Given the description of an element on the screen output the (x, y) to click on. 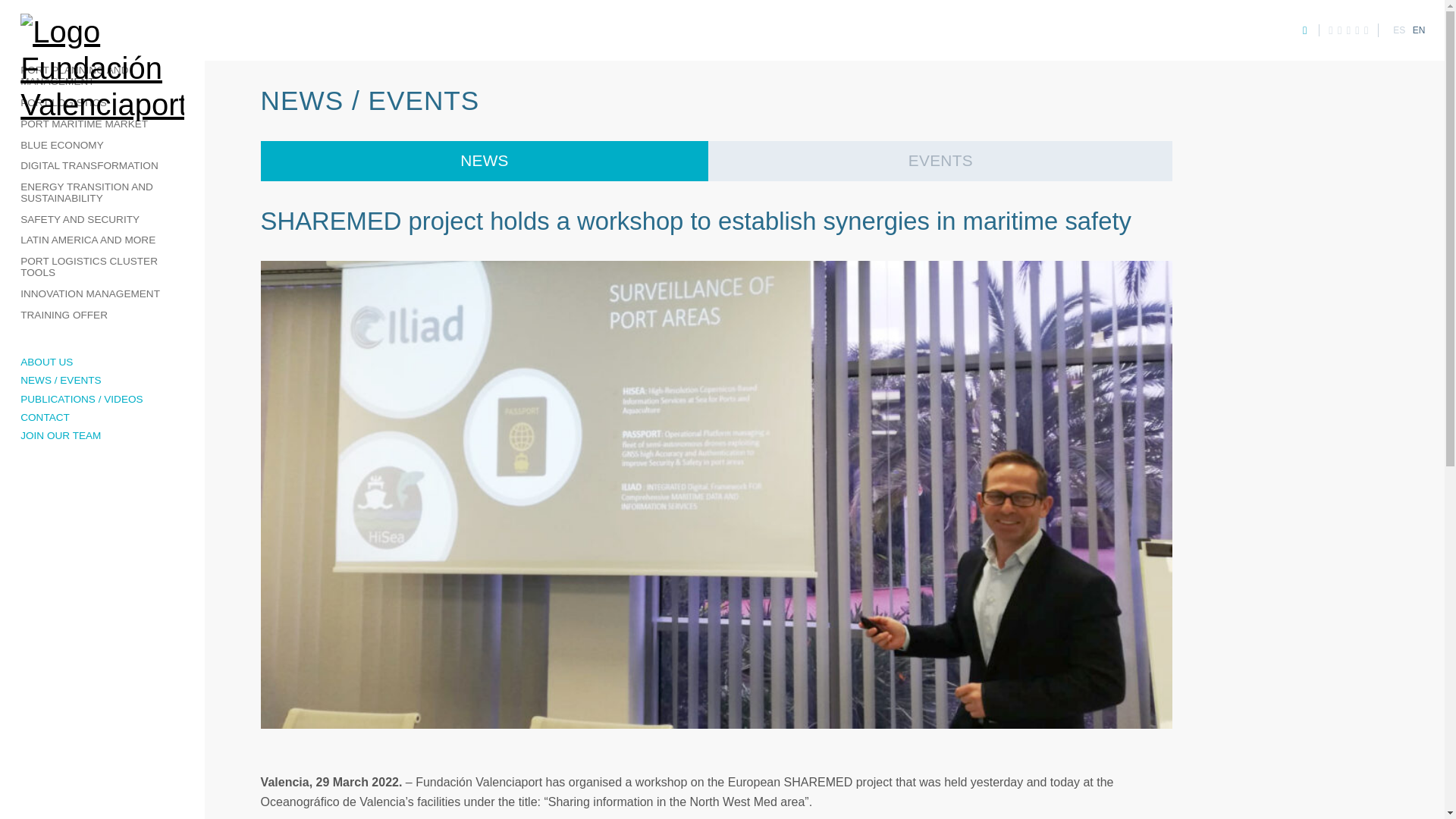
ENERGY TRANSITION AND SUSTAINABILITY (102, 193)
SAFETY AND SECURITY (102, 219)
BLUE ECONOMY (102, 145)
DIGITAL TRANSFORMATION (102, 166)
JOIN OUR TEAM (102, 435)
ABOUT US (102, 361)
PORT MARITIME MARKET (102, 124)
PORT LOGISTICS CLUSTER TOOLS (102, 267)
CONTACT (102, 417)
LATIN AMERICA AND MORE (102, 240)
PORT LOGISTICS (102, 103)
TRAINING OFFER (102, 314)
PORT PLANNING AND MANAGEMENT (102, 76)
INNOVATION MANAGEMENT (102, 293)
